Given the description of an element on the screen output the (x, y) to click on. 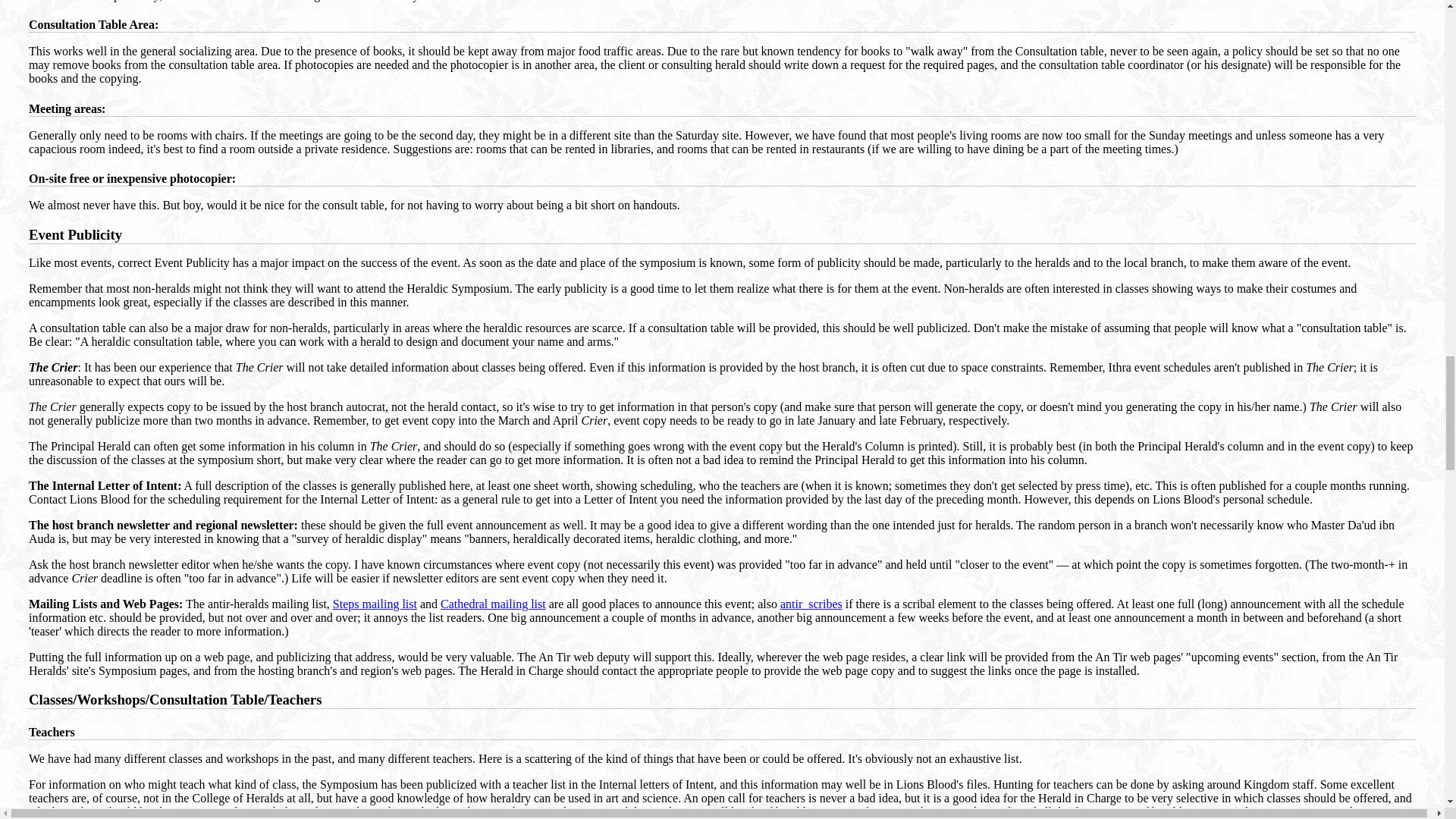
Steps mailing list (374, 603)
Cathedral mailing list (493, 603)
